Given the description of an element on the screen output the (x, y) to click on. 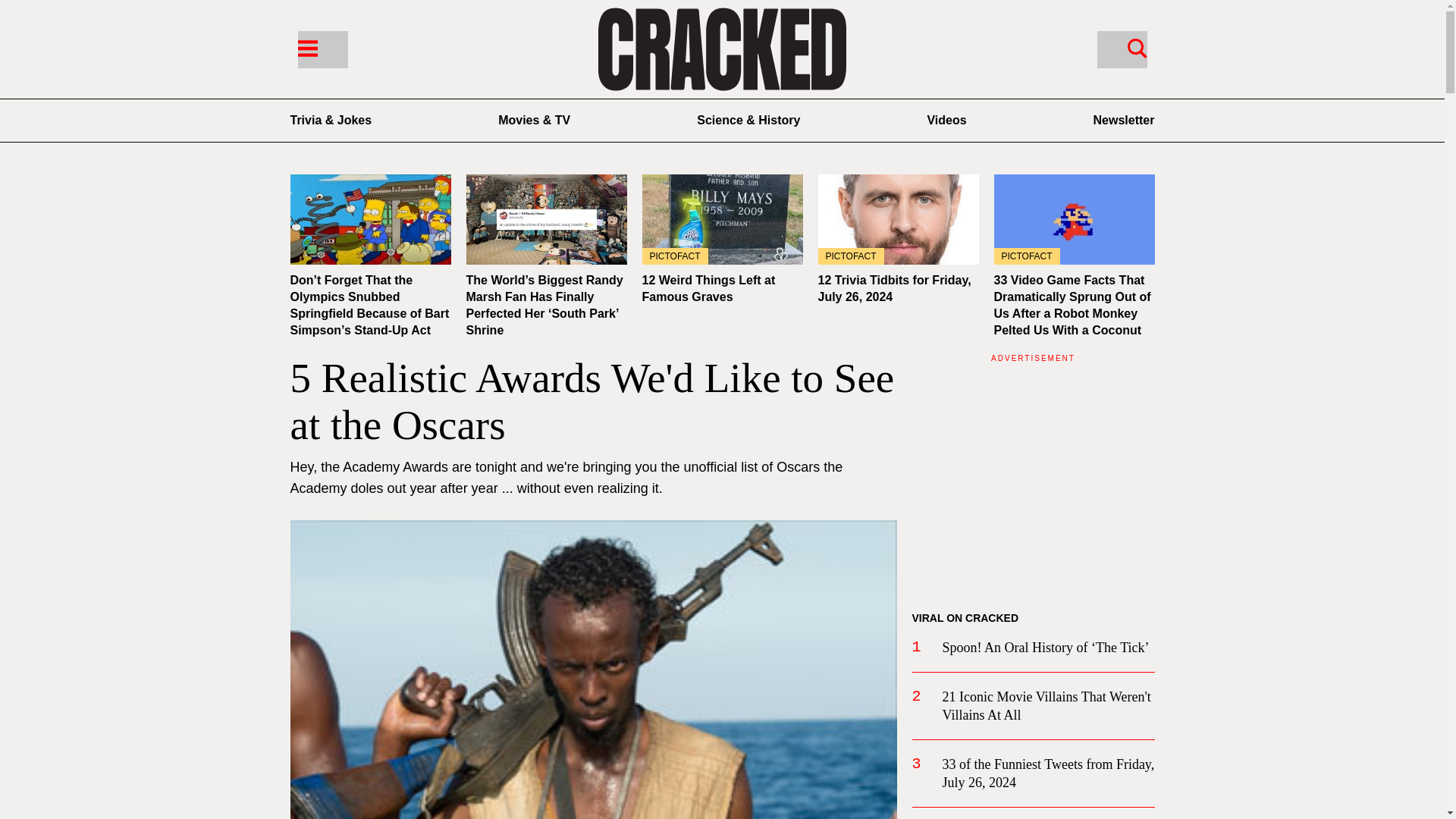
Newsletter (1123, 119)
Search (1136, 47)
Menu (322, 48)
Cracked Newsletter (1123, 119)
PICTOFACT (722, 219)
12 Trivia Tidbits for Friday, July 26, 2024 (893, 288)
Search (1121, 48)
PICTOFACT (897, 219)
PICTOFACT (1073, 219)
Menu (307, 47)
Videos (946, 119)
Videos (946, 119)
12 Weird Things Left at Famous Graves (708, 288)
